Given the description of an element on the screen output the (x, y) to click on. 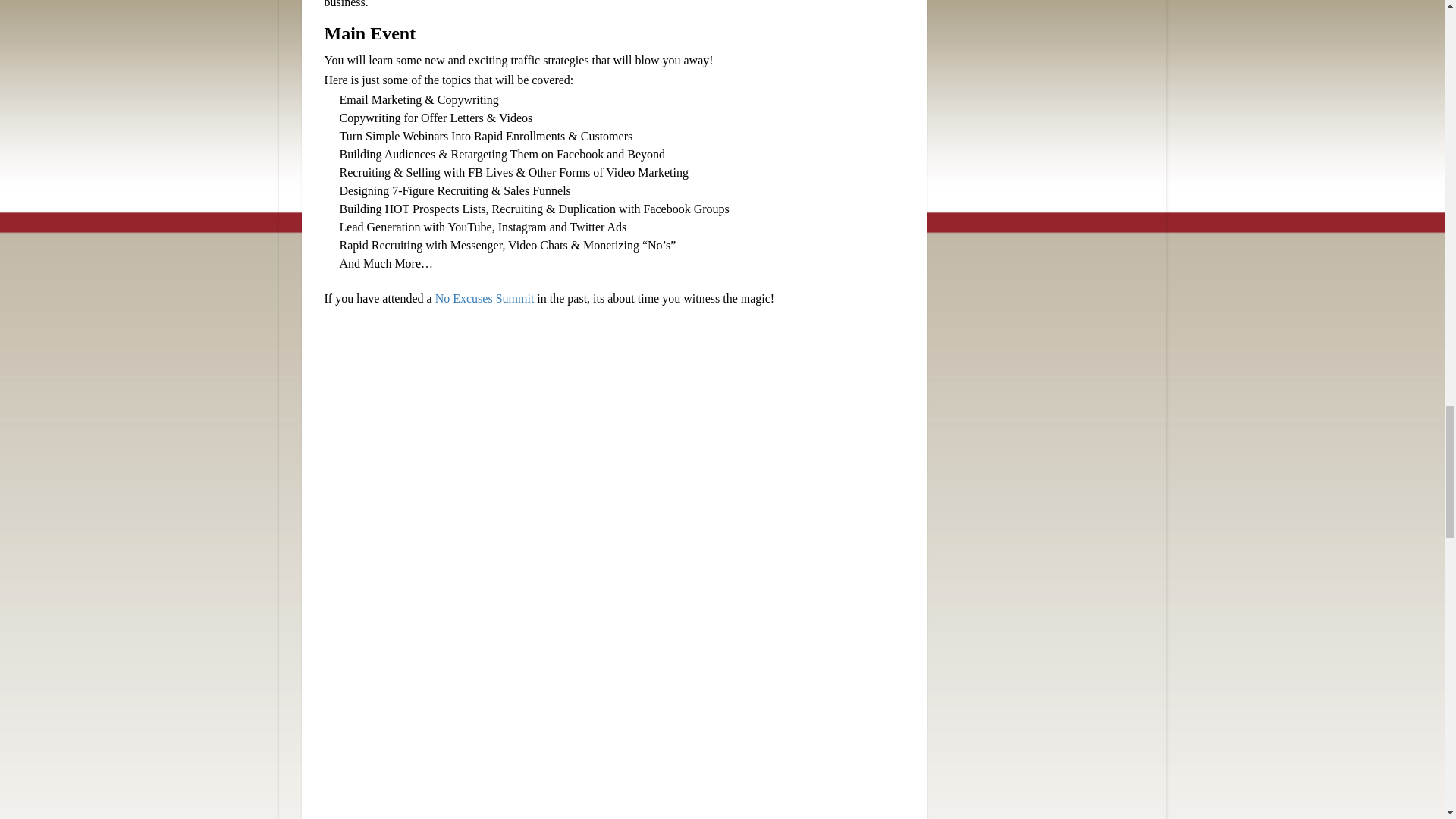
No Excuses Summit (484, 297)
